Given the description of an element on the screen output the (x, y) to click on. 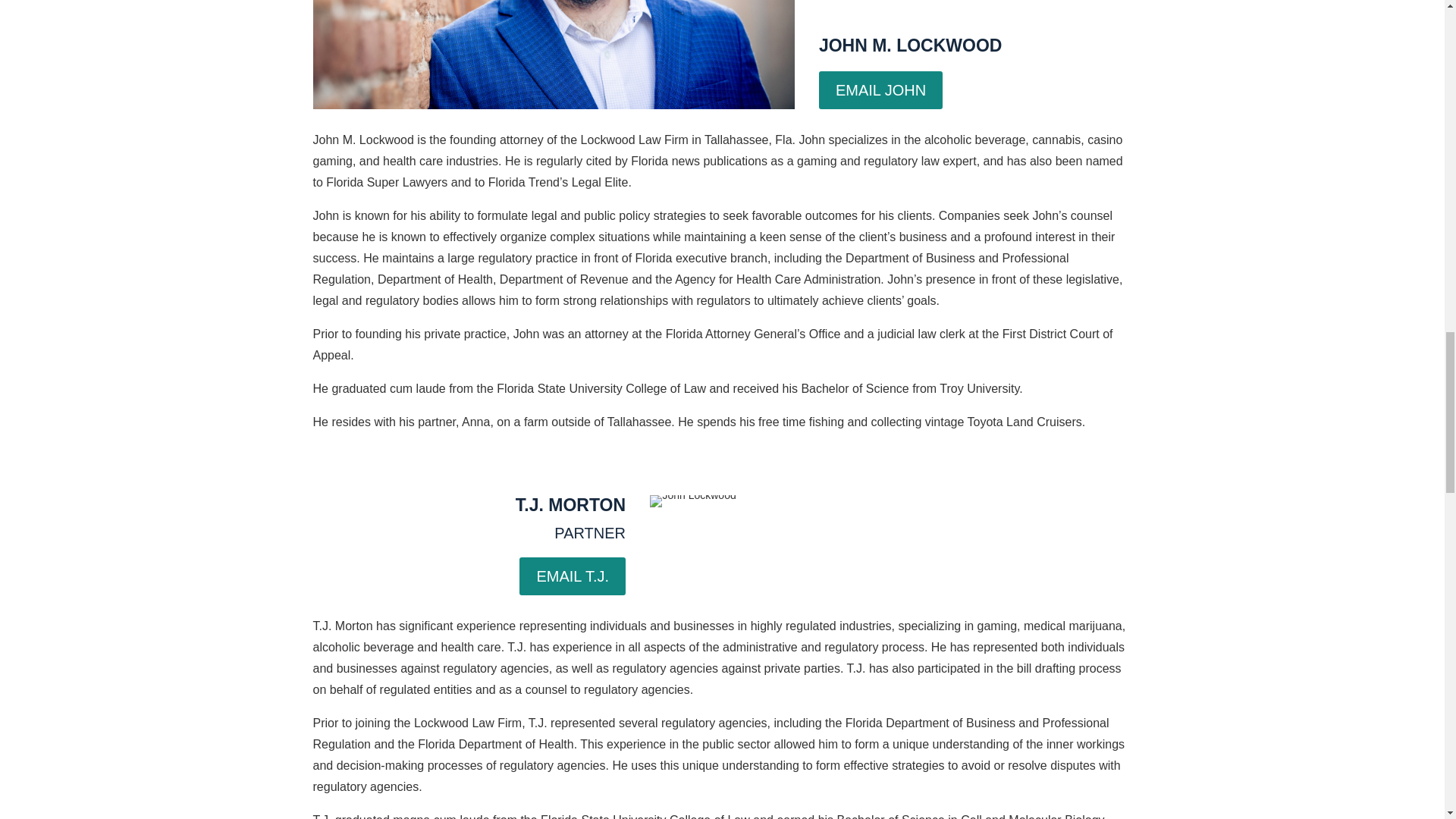
EMAIL JOHN (880, 89)
Lockwood Law (553, 54)
Lockwood Law (692, 500)
EMAIL T.J. (572, 576)
